Given the description of an element on the screen output the (x, y) to click on. 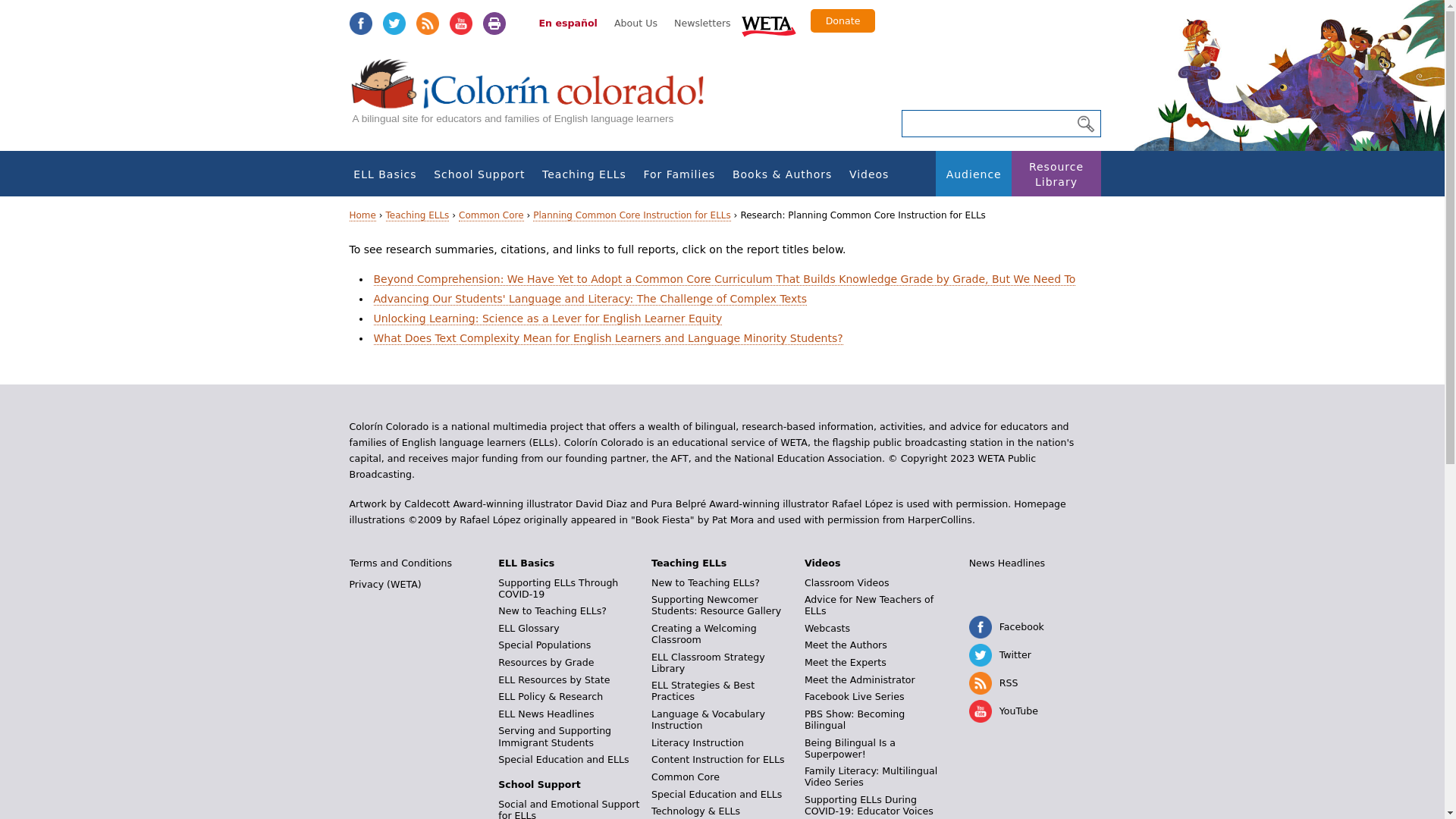
Newsletters (702, 22)
School Support (479, 174)
Donate (843, 20)
YouTube (459, 23)
ELL Basics (384, 174)
About Us (636, 22)
Search (1085, 123)
Facebook (360, 23)
WETA (768, 24)
Twitter (392, 23)
Print (493, 23)
Home (535, 98)
Search (1085, 123)
RSS (426, 23)
